Given the description of an element on the screen output the (x, y) to click on. 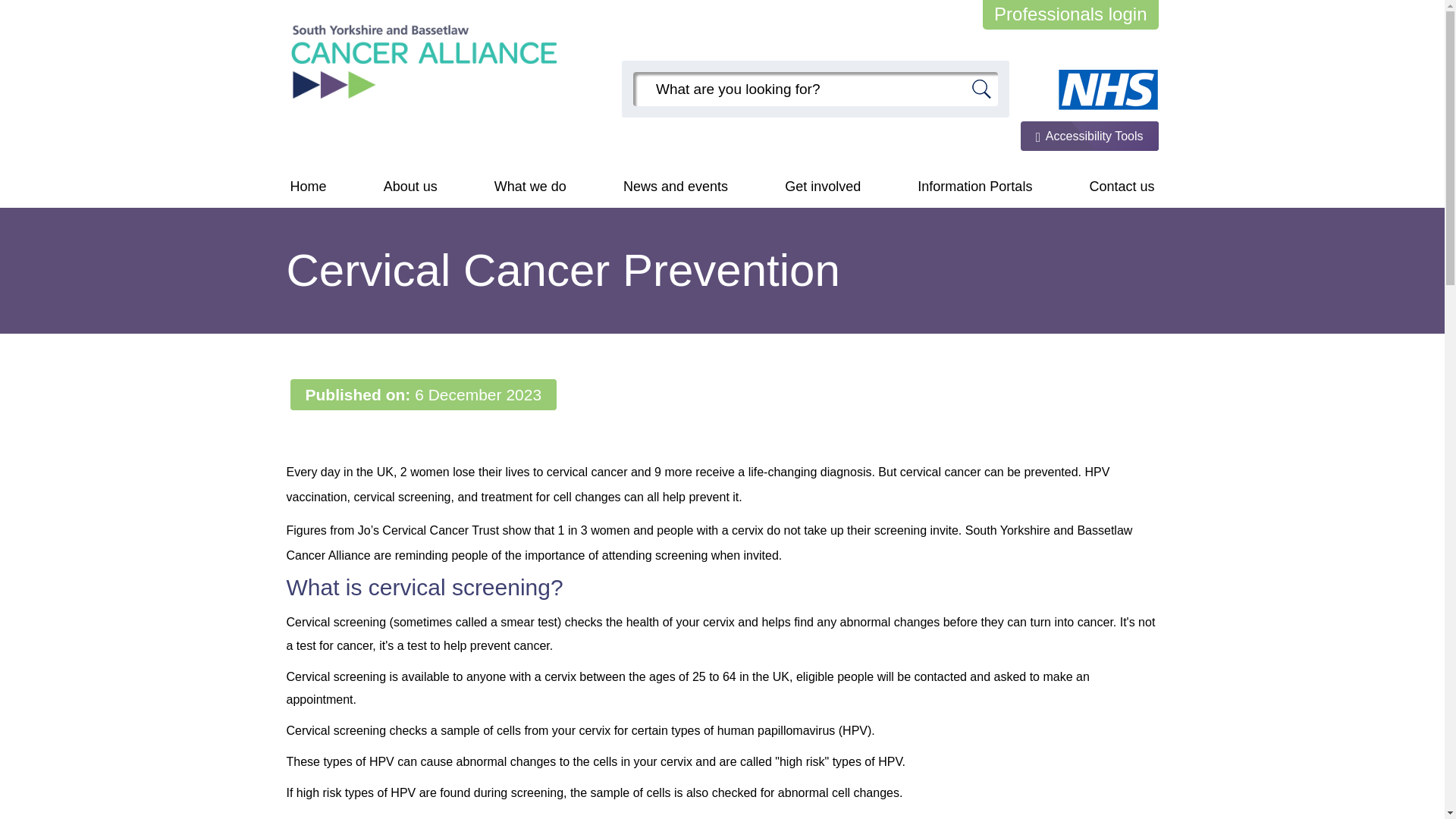
News and events (675, 187)
Go back to the homepage (424, 61)
Home (308, 187)
Professionals login (1069, 14)
What we do (530, 187)
About us (410, 187)
Accessibility Tools (1089, 135)
